Given the description of an element on the screen output the (x, y) to click on. 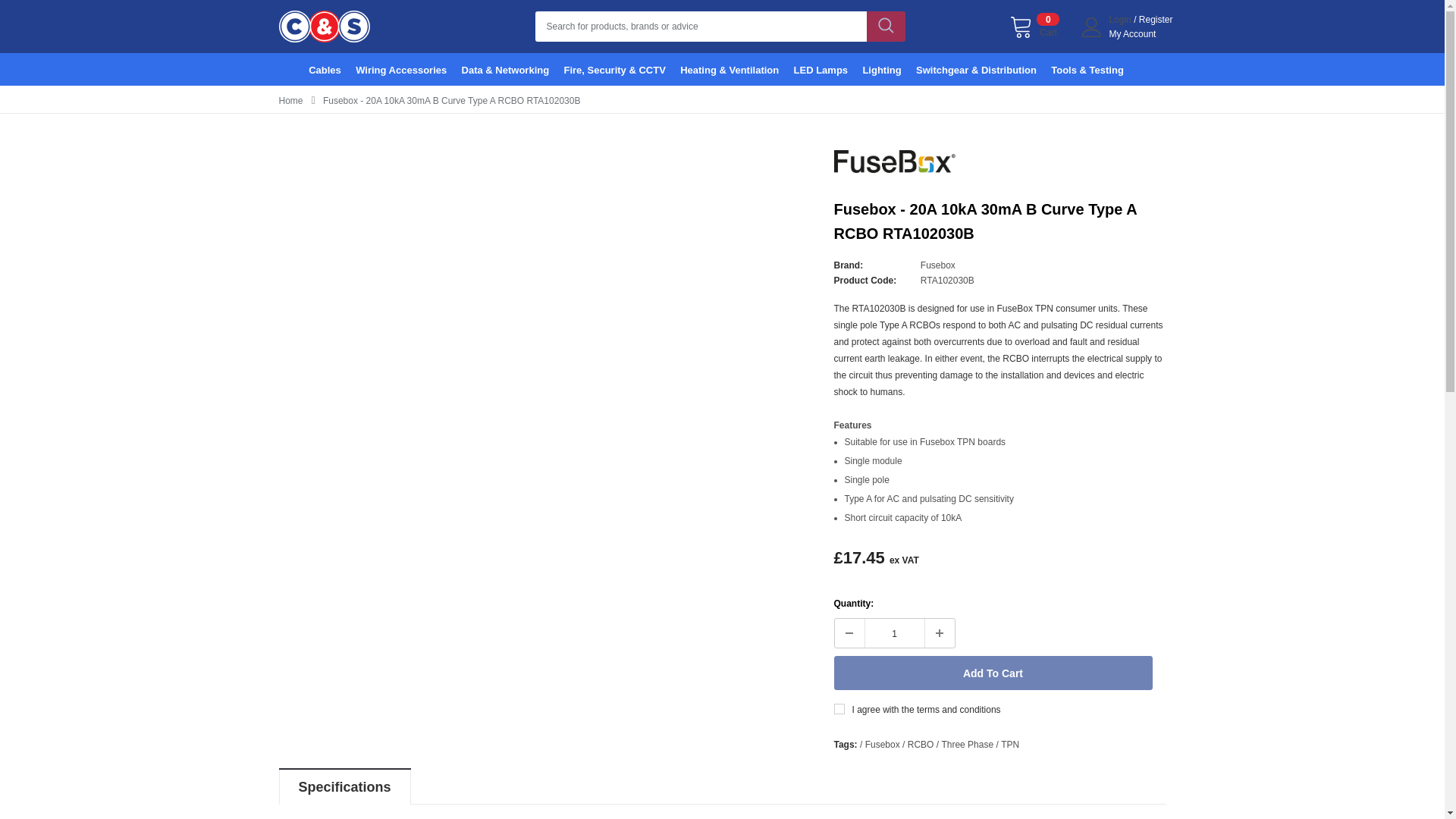
Fusebox (937, 265)
Cables (330, 69)
1 (893, 632)
Login (1121, 19)
User Icon (1091, 26)
Add to Cart (1034, 27)
Register (993, 673)
My Account (1155, 19)
Cart (1132, 33)
